Given the description of an element on the screen output the (x, y) to click on. 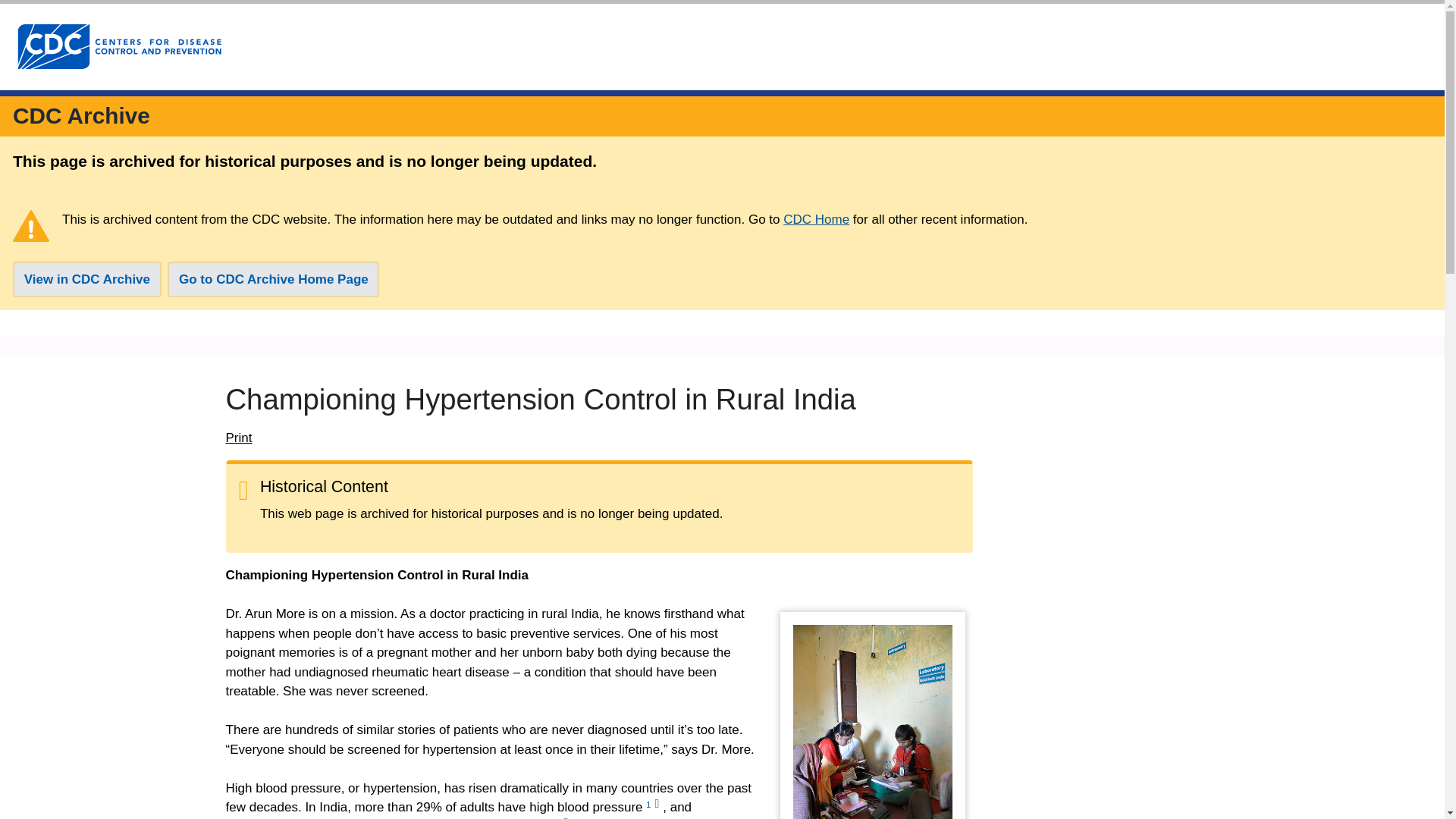
CDC Home (815, 219)
1 (654, 804)
View in CDC Archive (87, 279)
CDC Archive (81, 115)
Go to CDC Archive Home Page (272, 279)
Print (238, 437)
CDC Archive Home (81, 115)
